Given the description of an element on the screen output the (x, y) to click on. 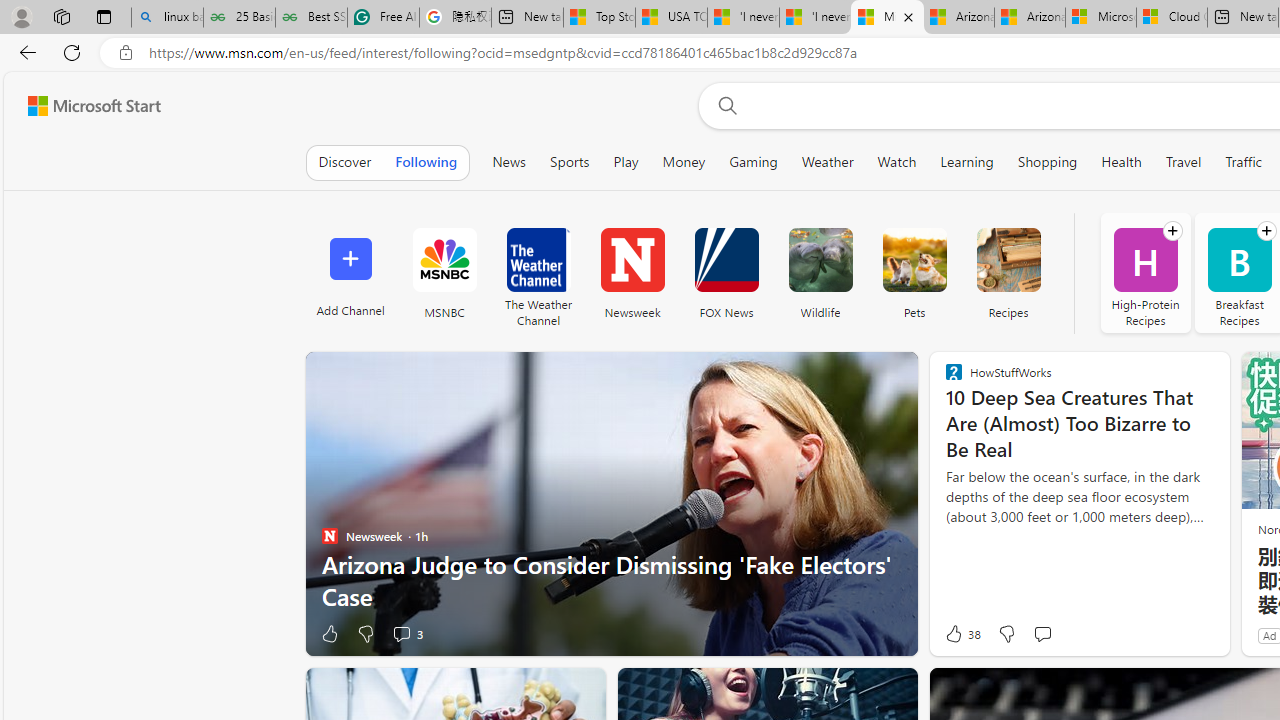
Gaming (752, 162)
Shopping (1047, 161)
Hide this story (544, 691)
Skip to footer (82, 105)
Health (1121, 161)
High-Protein Recipes (1144, 272)
FOX News (726, 260)
